Given the description of an element on the screen output the (x, y) to click on. 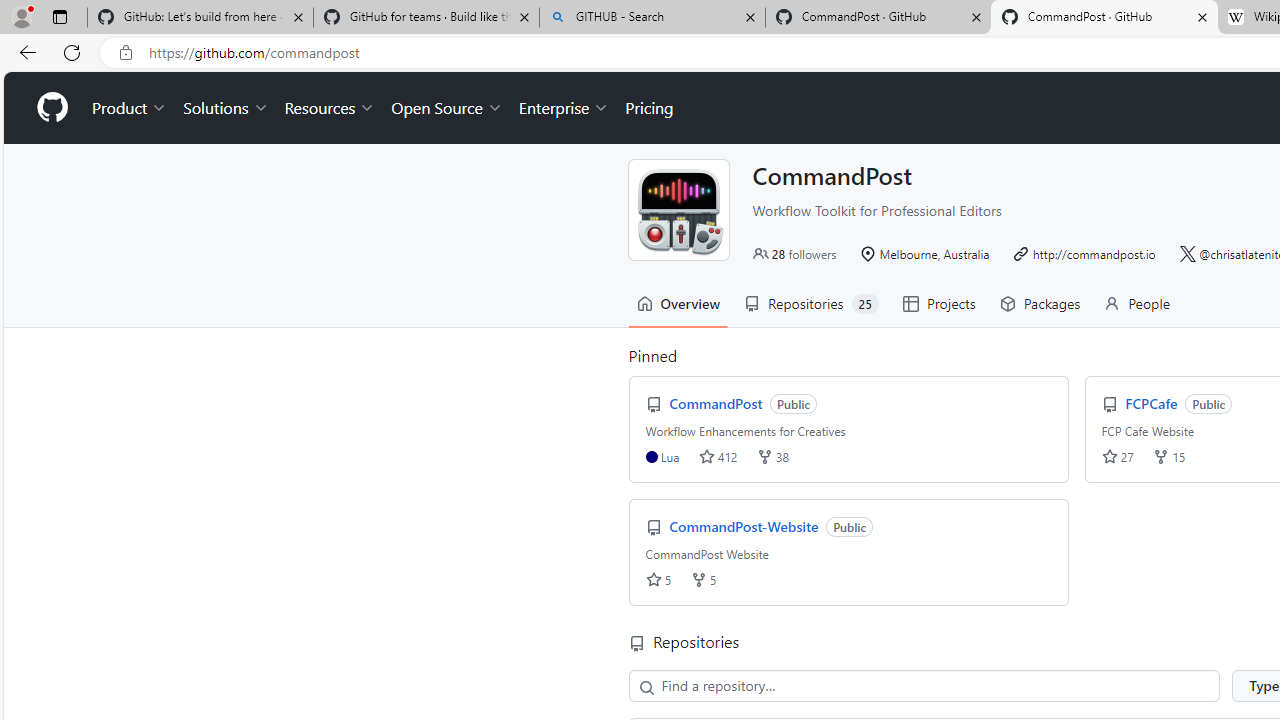
Pricing (649, 107)
Repositories 25 (811, 303)
CommandPost-Website (746, 525)
Open Source (446, 107)
@CommandPost (678, 209)
CommandPost-WebsitePublicCommandPost Website 5 5 (847, 552)
Resources (330, 107)
Overview (678, 303)
